Given the description of an element on the screen output the (x, y) to click on. 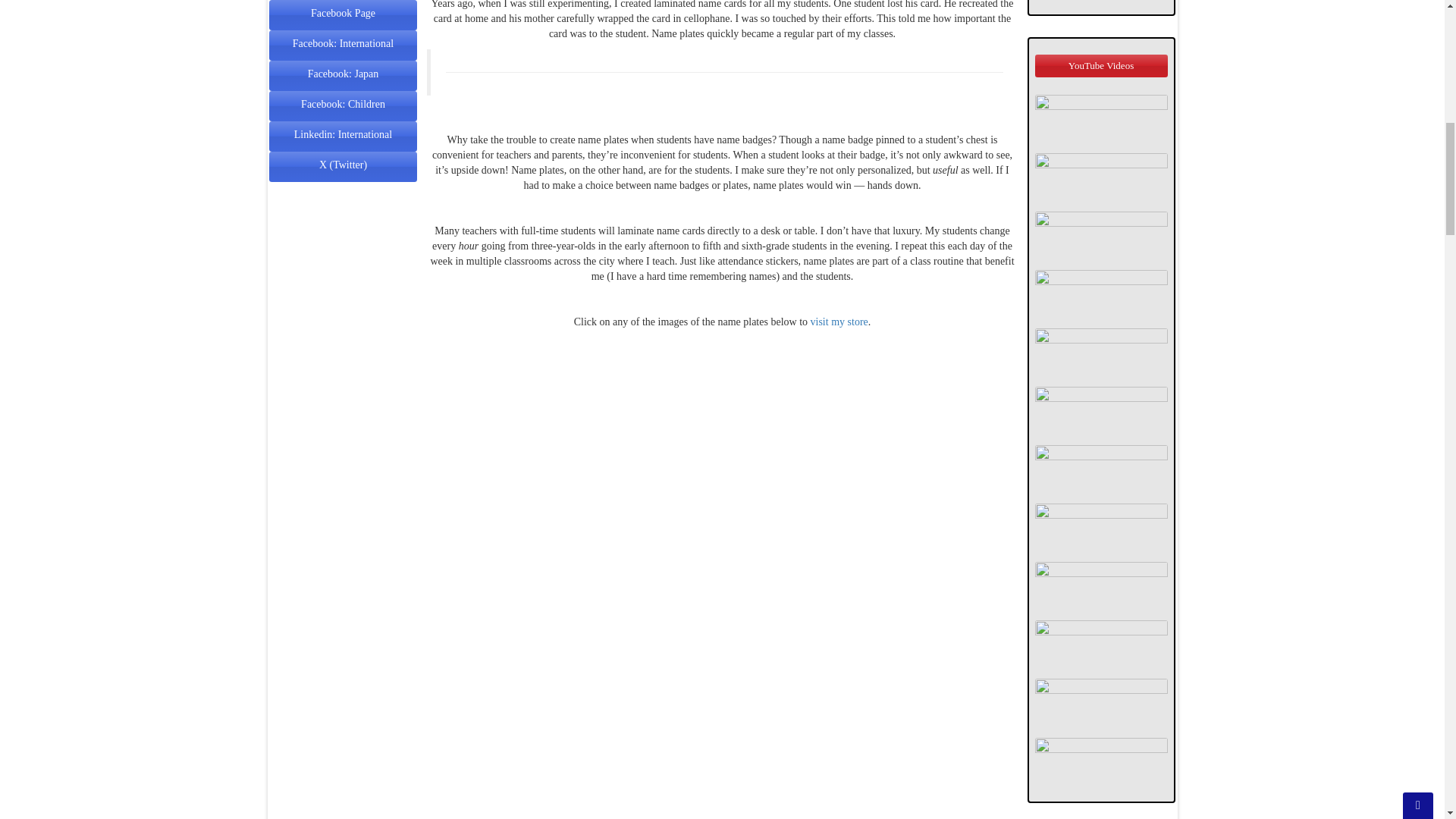
Facebook: International (342, 42)
almabl40a (1100, 0)
Facebook Page (343, 12)
Facebook: Japan (342, 72)
Facebook: Children (343, 103)
Linkedin: International (342, 133)
visit my store (838, 321)
